Given the description of an element on the screen output the (x, y) to click on. 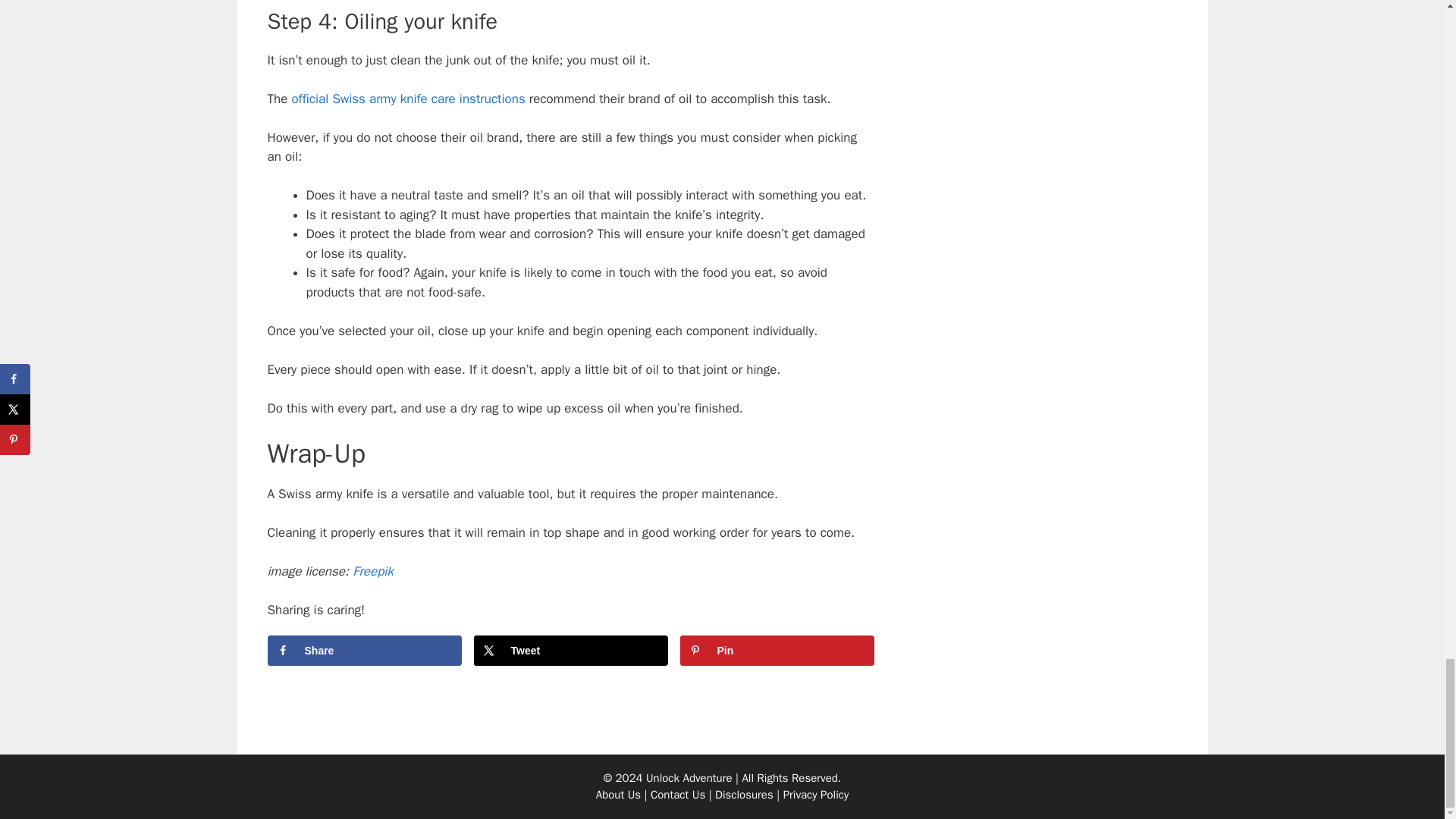
About Us (617, 794)
Disclosures (743, 794)
Contact Us (677, 794)
Save to Pinterest (776, 650)
Freepik (372, 571)
Share on Facebook (363, 650)
official Swiss army knife care instructions (407, 98)
Share on X (569, 650)
Pin (776, 650)
Share (363, 650)
Tweet (569, 650)
Privacy Policy (815, 794)
